Given the description of an element on the screen output the (x, y) to click on. 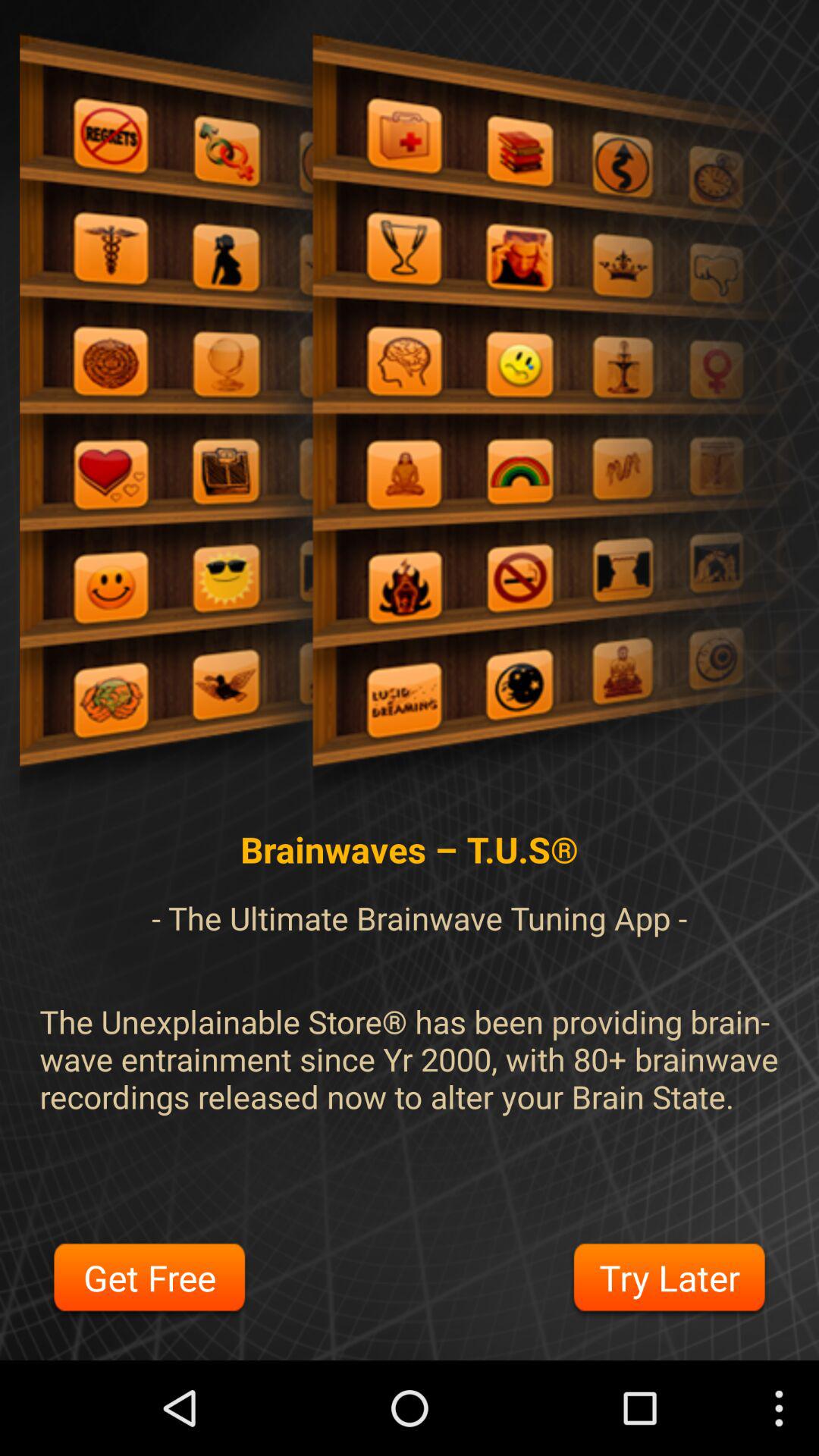
choose the icon above brainwaves t u (409, 422)
